Given the description of an element on the screen output the (x, y) to click on. 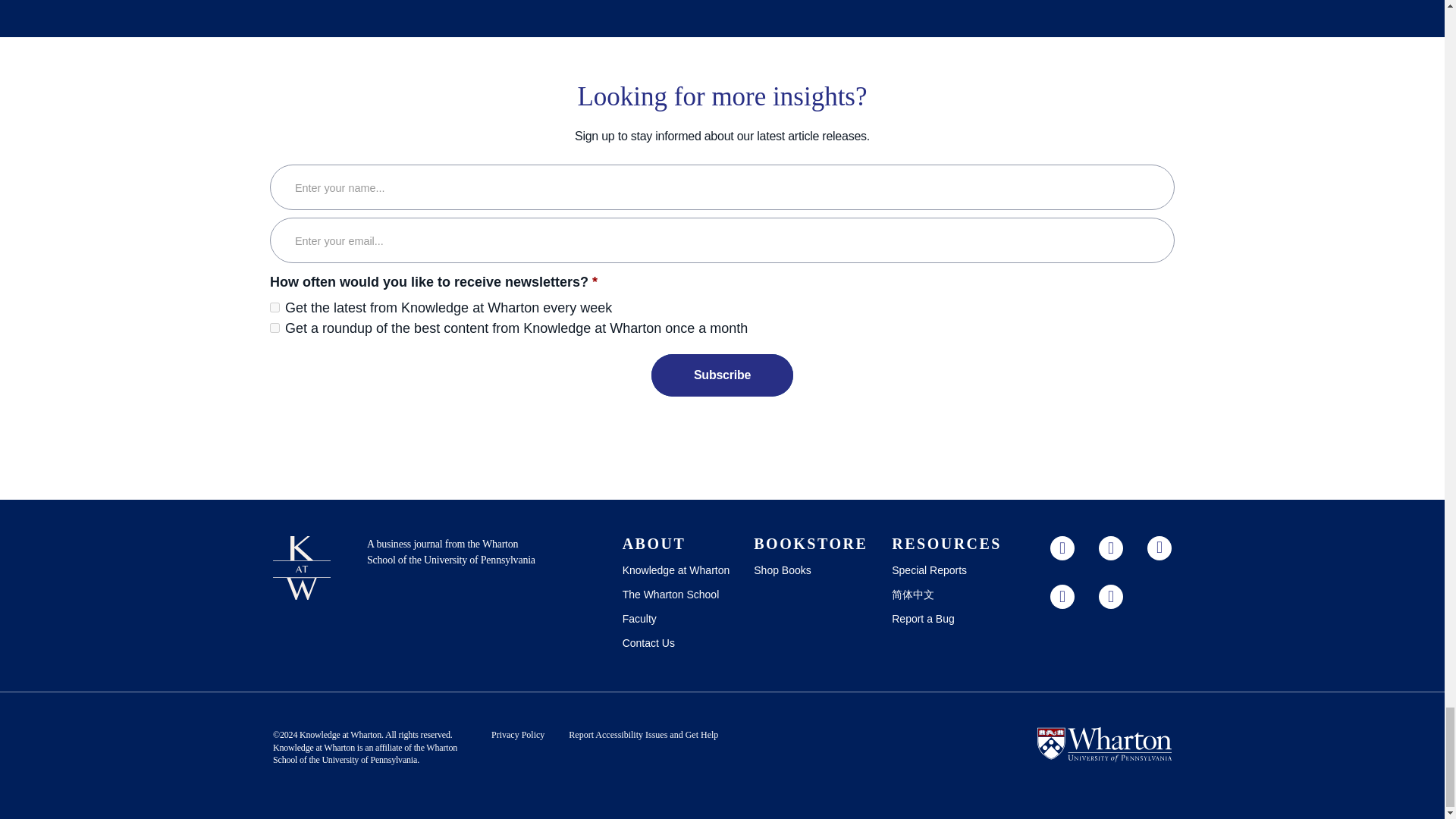
6836382 (274, 307)
6825401 (274, 327)
Knowledge at Wharton (340, 734)
Knowledge at Wharton (314, 747)
